Given the description of an element on the screen output the (x, y) to click on. 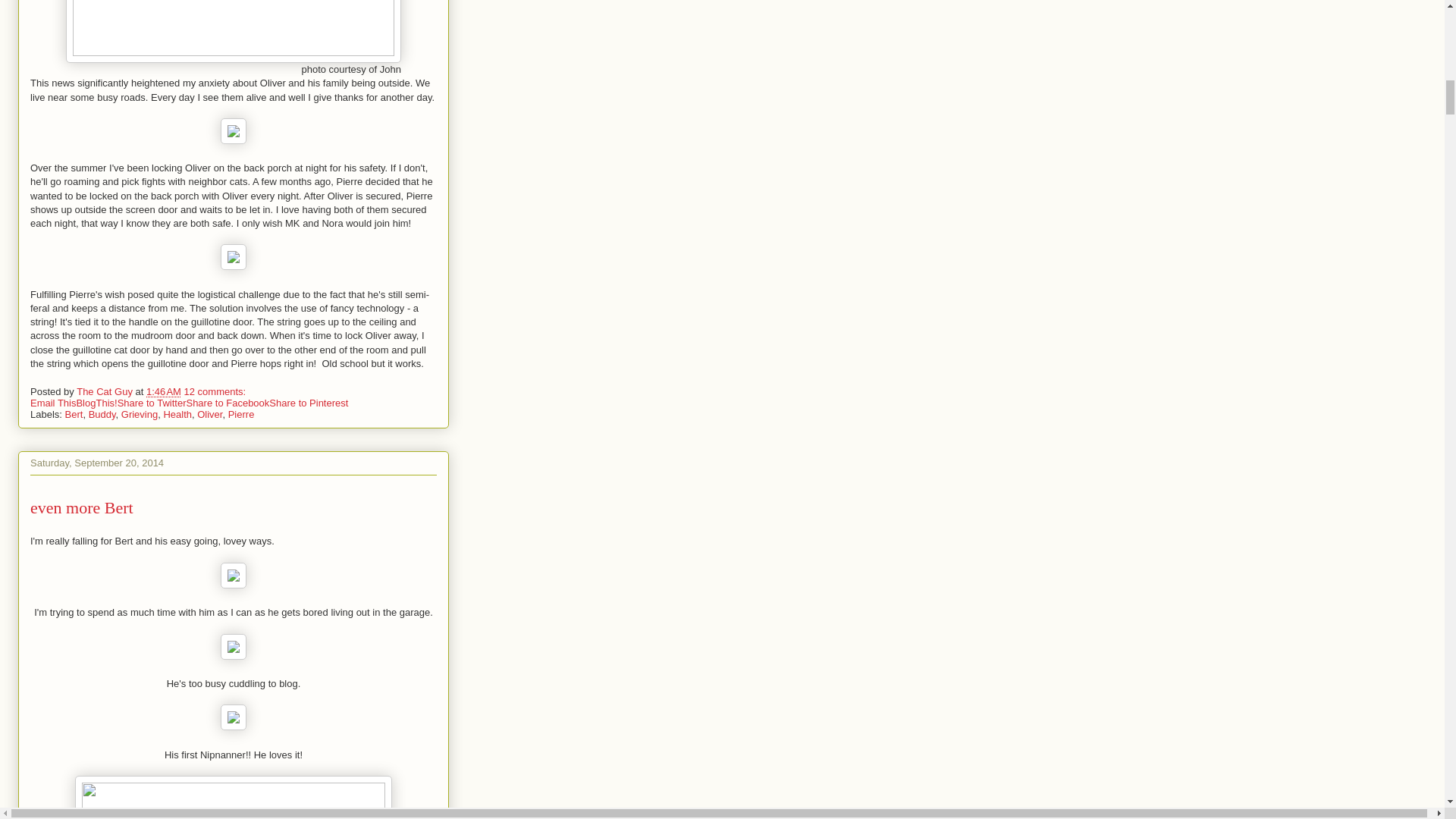
The Cat Guy (106, 391)
even more Bert (81, 506)
Share to Pinterest (308, 402)
author profile (106, 391)
permanent link (163, 391)
Share to Twitter (151, 402)
Grieving (138, 414)
Share to Facebook (227, 402)
Share to Facebook (227, 402)
BlogThis! (95, 402)
12 comments: (216, 391)
Bert (73, 414)
Oliver (209, 414)
Email Post (255, 391)
BlogThis! (95, 402)
